Given the description of an element on the screen output the (x, y) to click on. 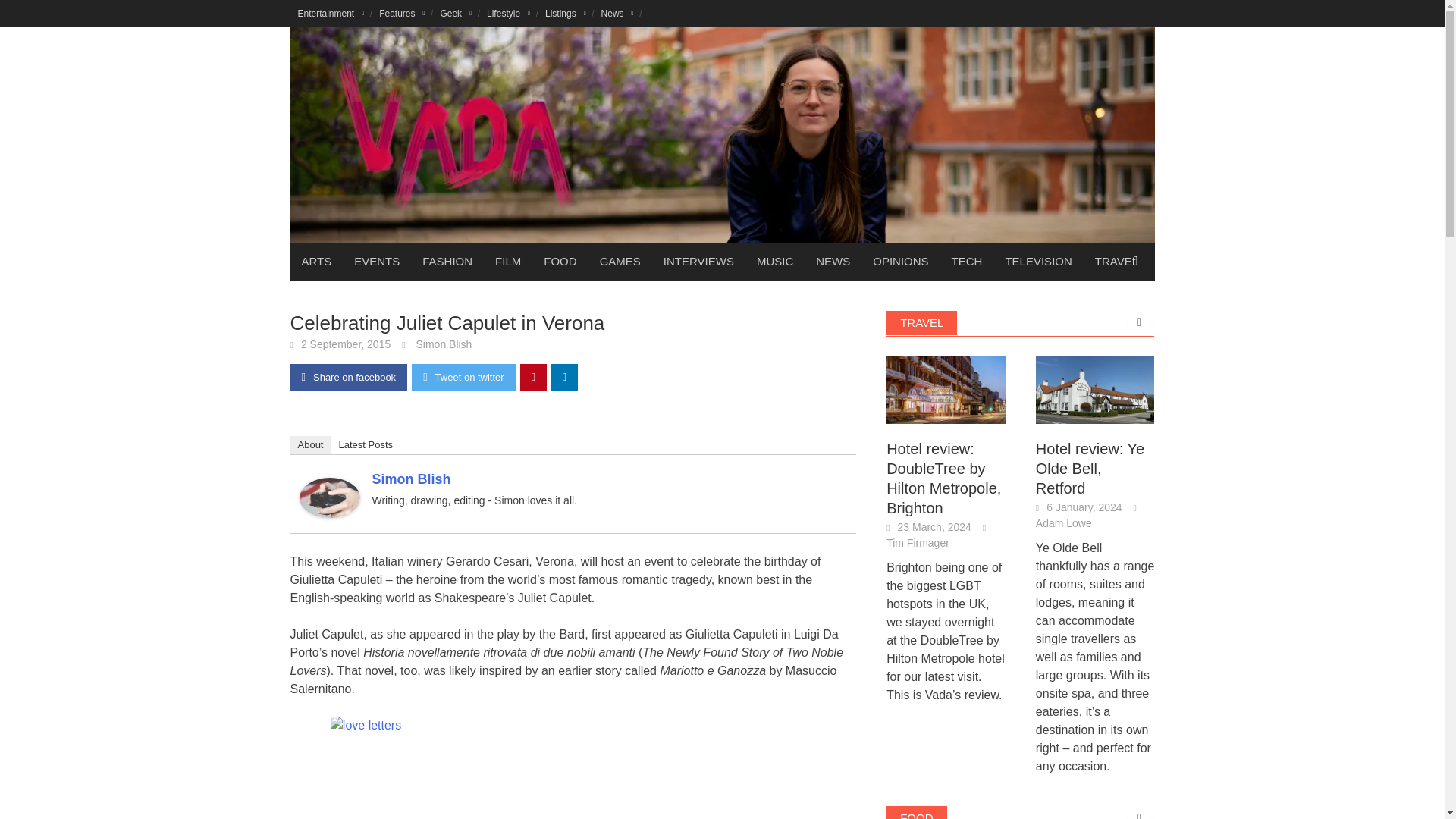
Hotel review: Ye Olde Bell, Retford (1094, 389)
Features (401, 13)
Hotel review: DoubleTree by Hilton Metropole, Brighton (946, 389)
Hotel review: DoubleTree by Hilton Metropole, Brighton (946, 390)
Simon Blish (328, 496)
Lifestyle (508, 13)
Hotel review: Ye Olde Bell, Retford (1094, 390)
Listings (565, 13)
News (618, 13)
Entertainment (330, 13)
Geek (455, 13)
